Given the description of an element on the screen output the (x, y) to click on. 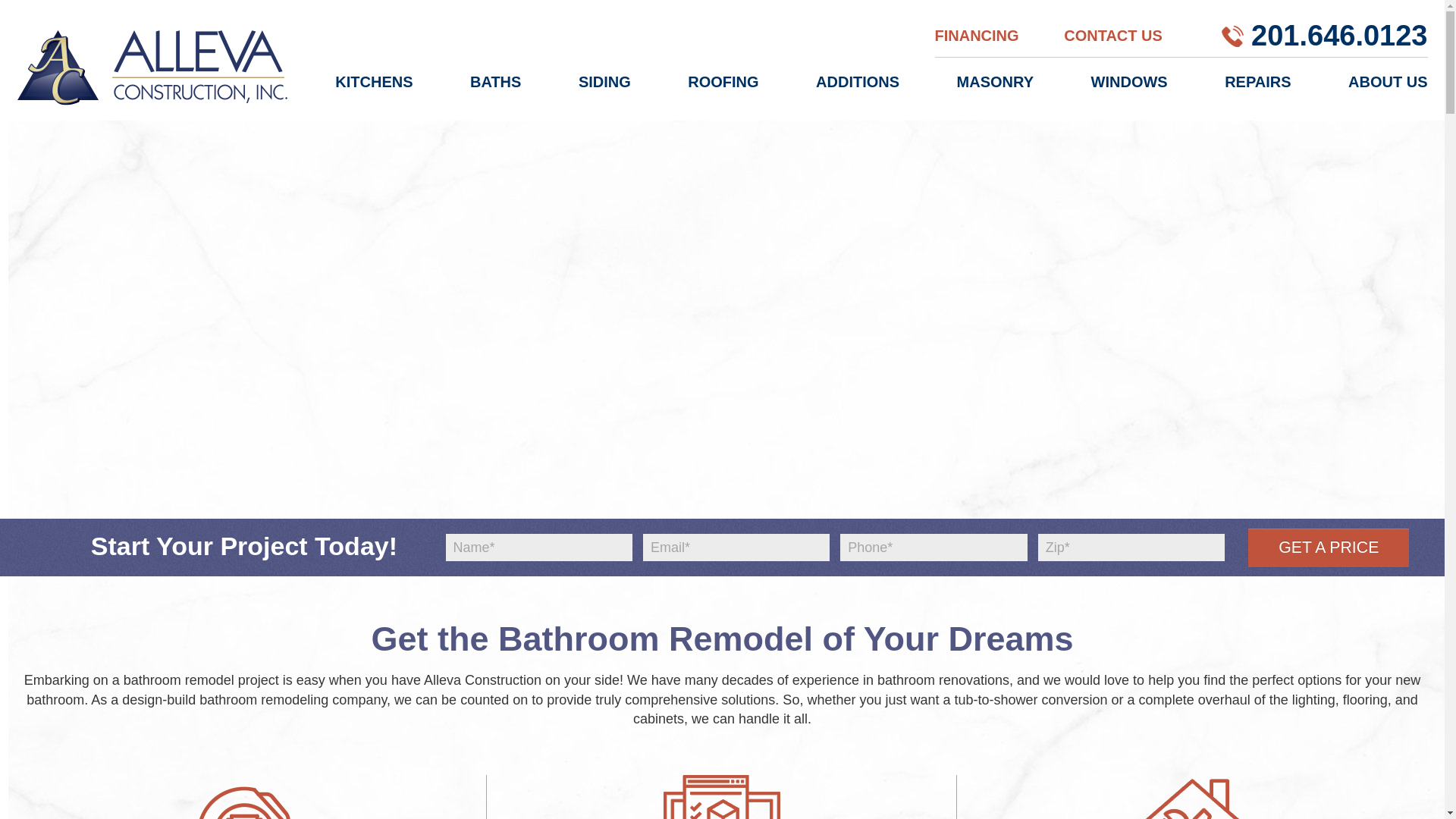
ROOFING (722, 91)
201.646.0123 (1338, 35)
ABOUT US (1387, 91)
GET A PRICE (1328, 547)
MASONRY (994, 91)
CONTACT US (1112, 35)
BATHS (495, 91)
FINANCING (975, 35)
REPAIRS (1257, 91)
ADDITIONS (857, 91)
